Given the description of an element on the screen output the (x, y) to click on. 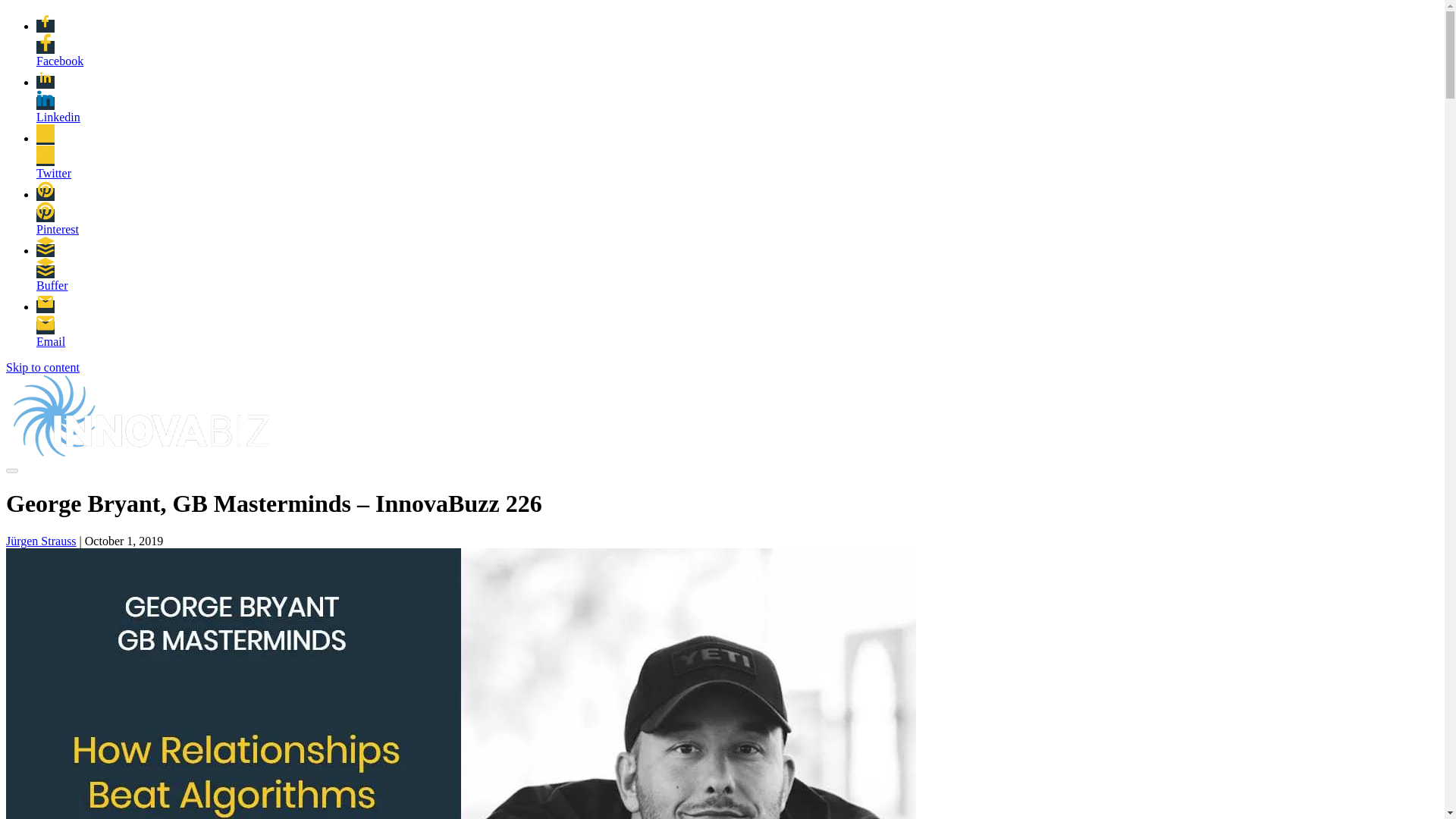
Buffer (54, 285)
Twitter (54, 173)
Linkedin (54, 117)
Facebook (54, 60)
Skip to content (42, 367)
Pinterest (54, 229)
Email (54, 341)
